Given the description of an element on the screen output the (x, y) to click on. 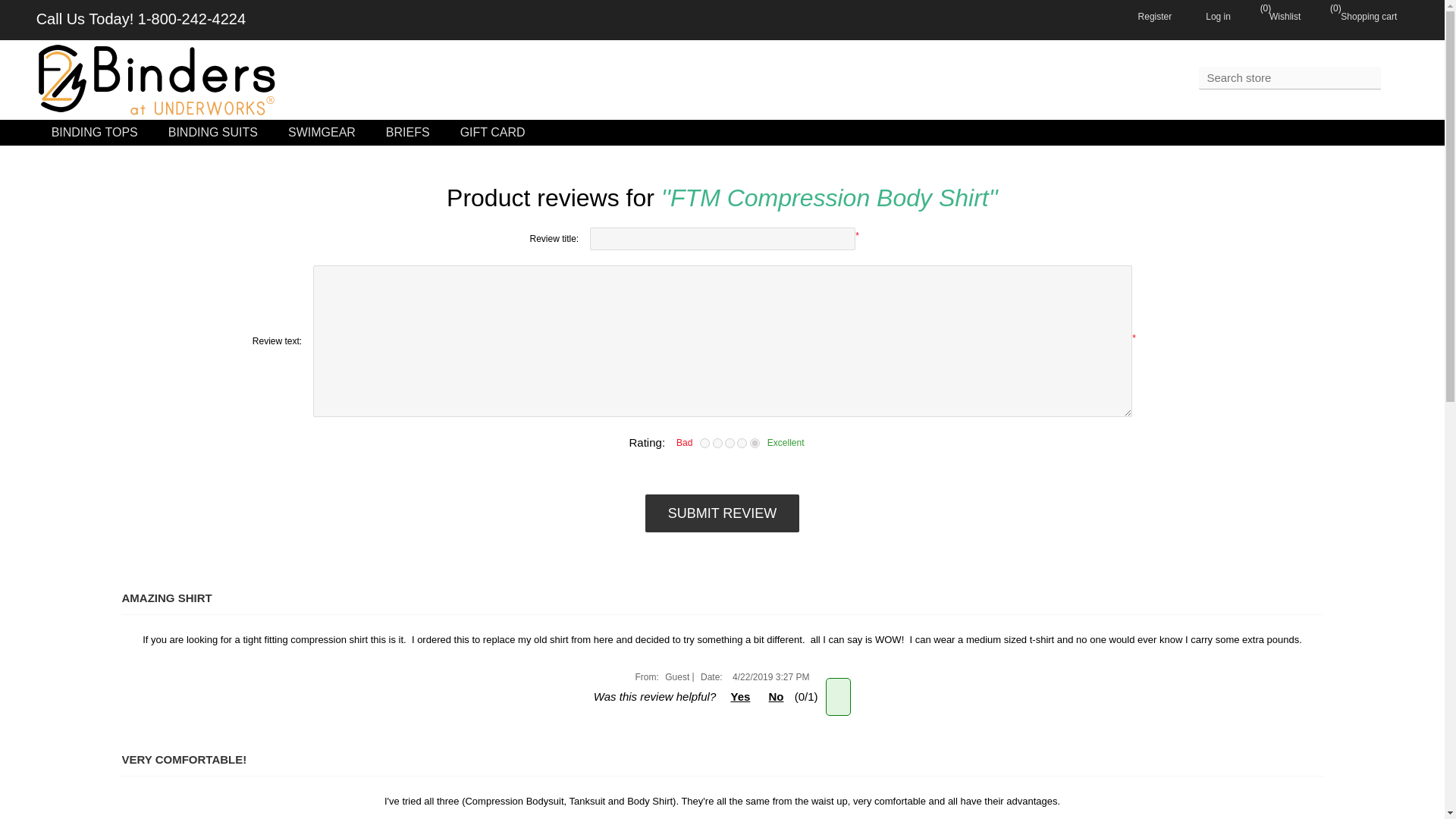
Shopping cart (1353, 15)
Submit review (722, 513)
Search (1393, 80)
Wishlist (1270, 15)
3 (730, 442)
1-800-242-4224 (192, 18)
SWIMGEAR (322, 132)
BINDING SUITS (212, 132)
4 (741, 442)
Search (1393, 80)
